Given the description of an element on the screen output the (x, y) to click on. 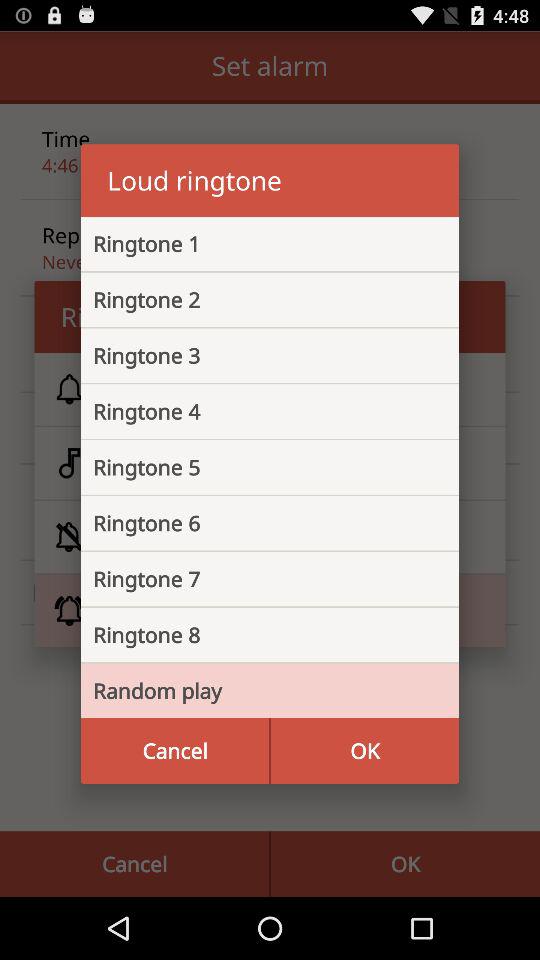
scroll until the ok item (364, 750)
